Given the description of an element on the screen output the (x, y) to click on. 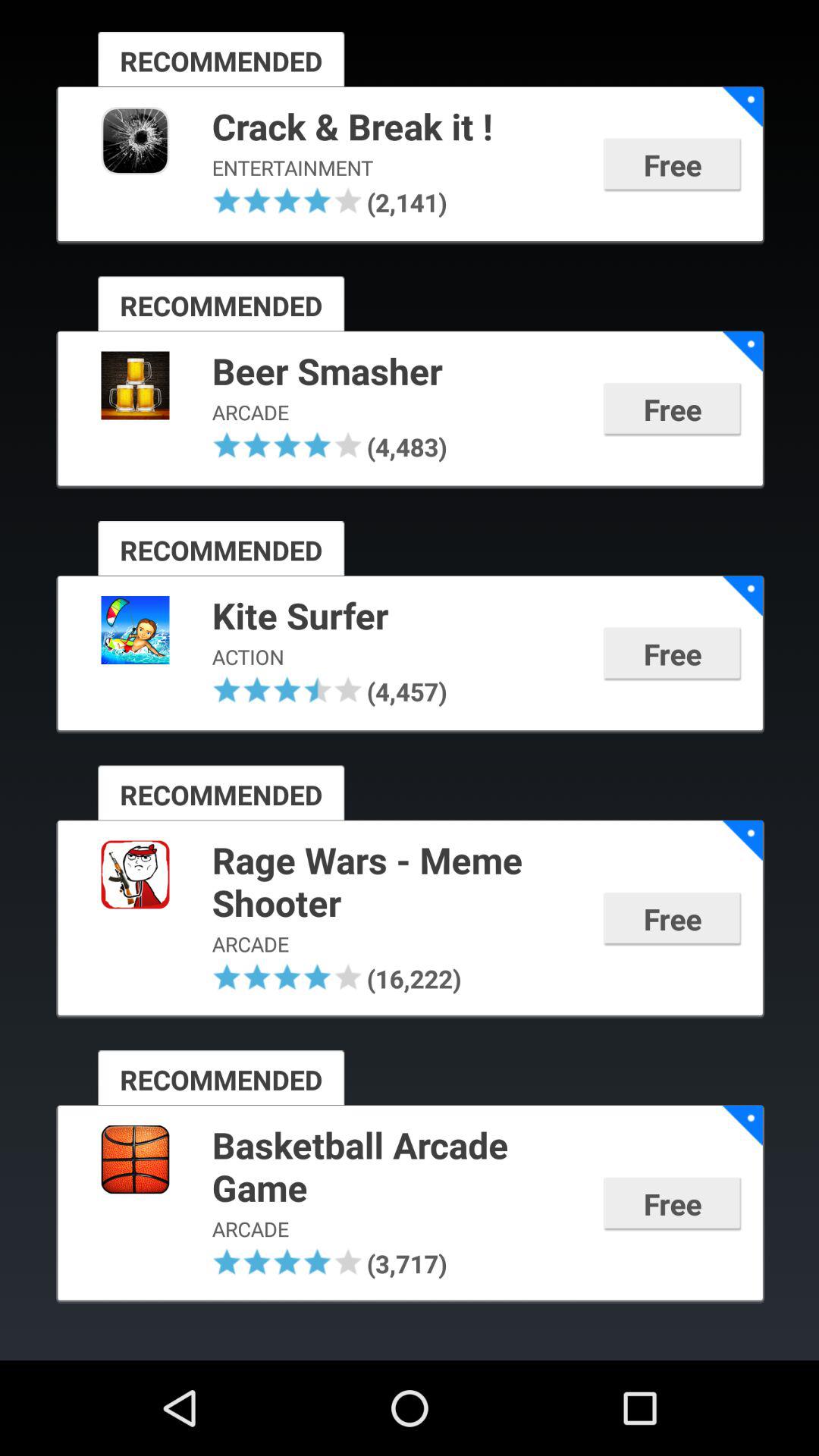
choose the item above the recommended icon (227, 200)
